Given the description of an element on the screen output the (x, y) to click on. 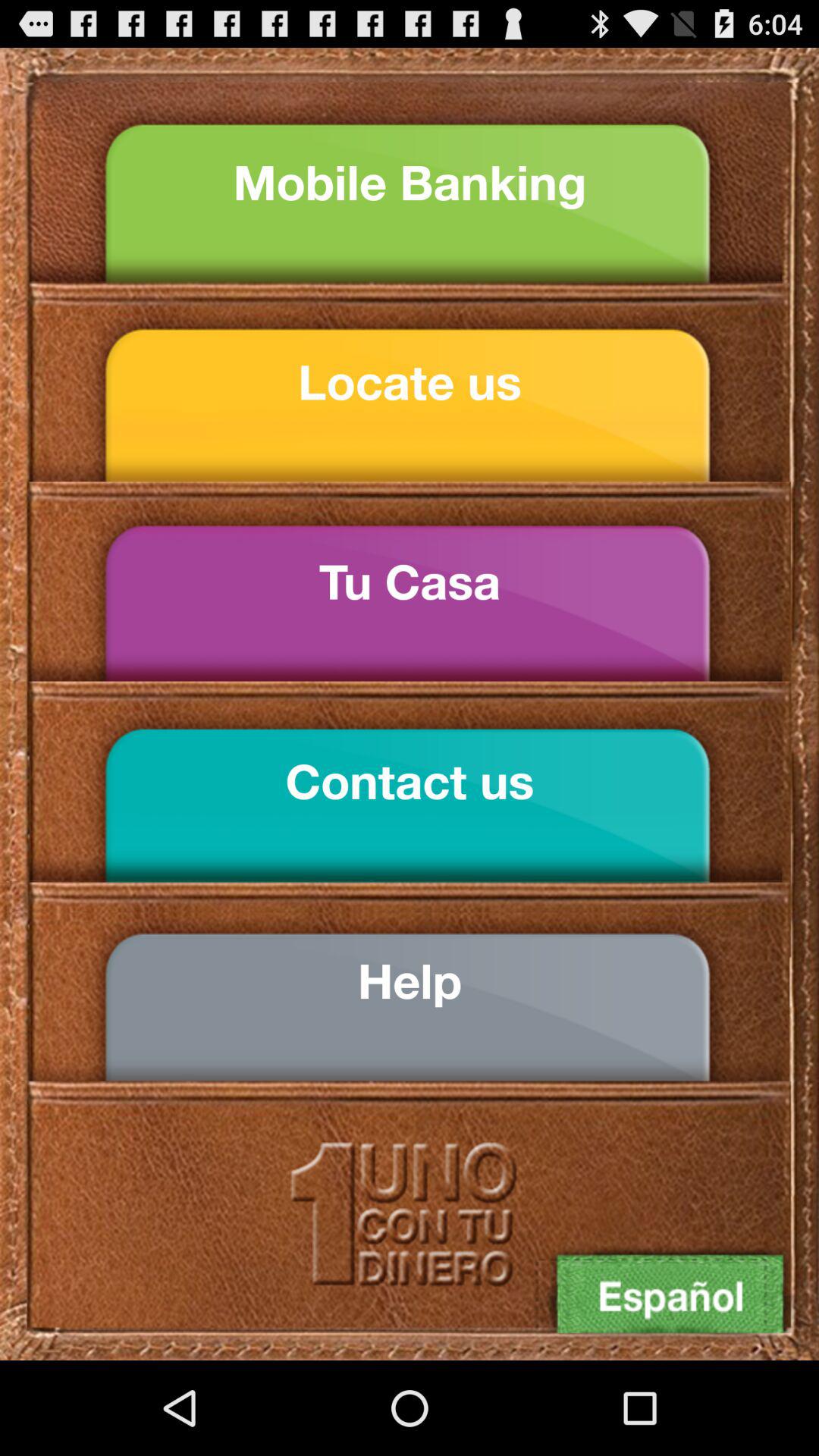
jump until the contact us app (409, 781)
